Given the description of an element on the screen output the (x, y) to click on. 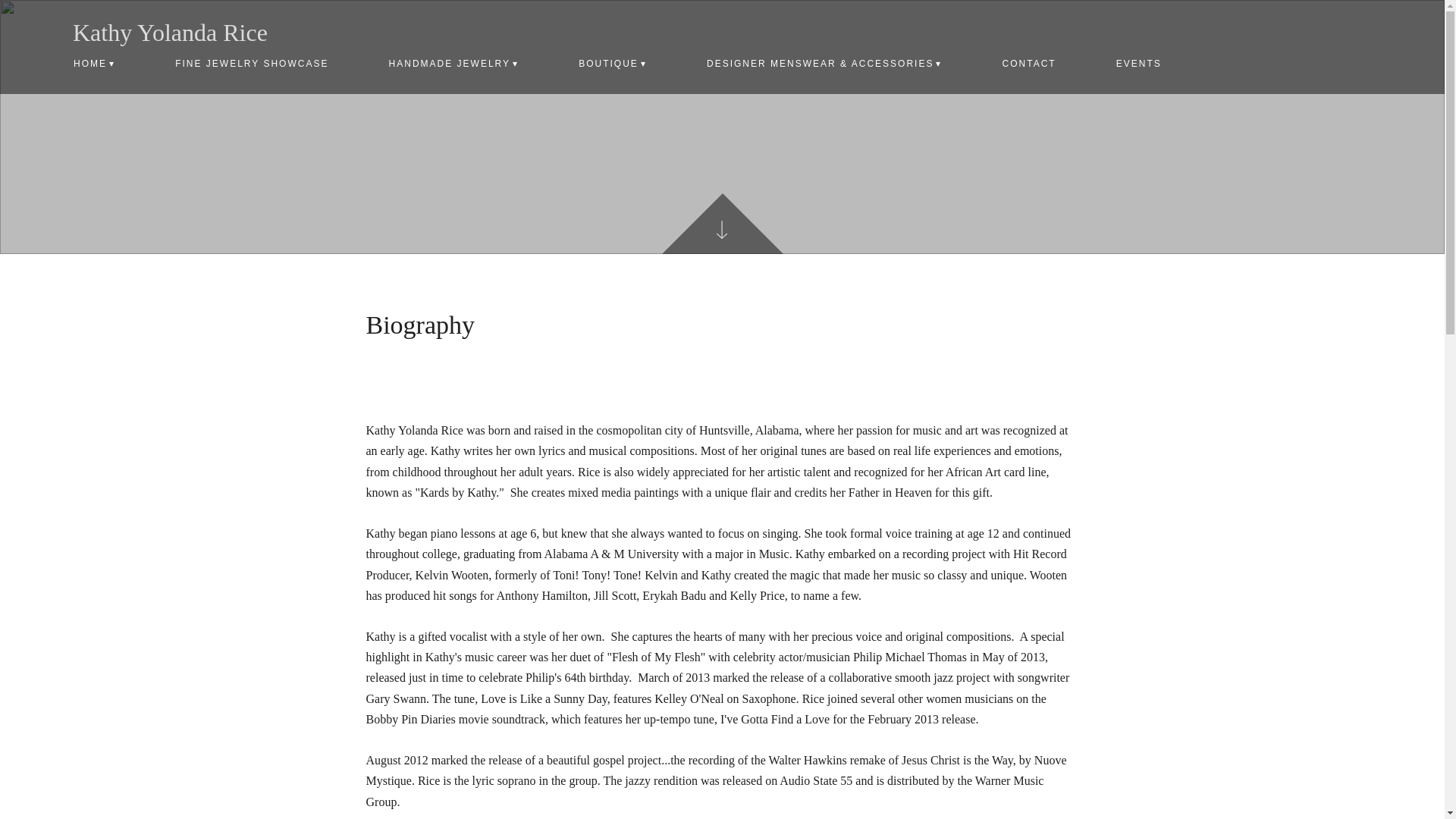
HANDMADE JEWELRY (453, 63)
Kathy Yolanda Rice (169, 32)
FINE JEWELRY SHOWCASE (251, 63)
EVENTS (1138, 63)
CONTACT (1028, 63)
BOUTIQUE (612, 63)
HOME (95, 63)
